Given the description of an element on the screen output the (x, y) to click on. 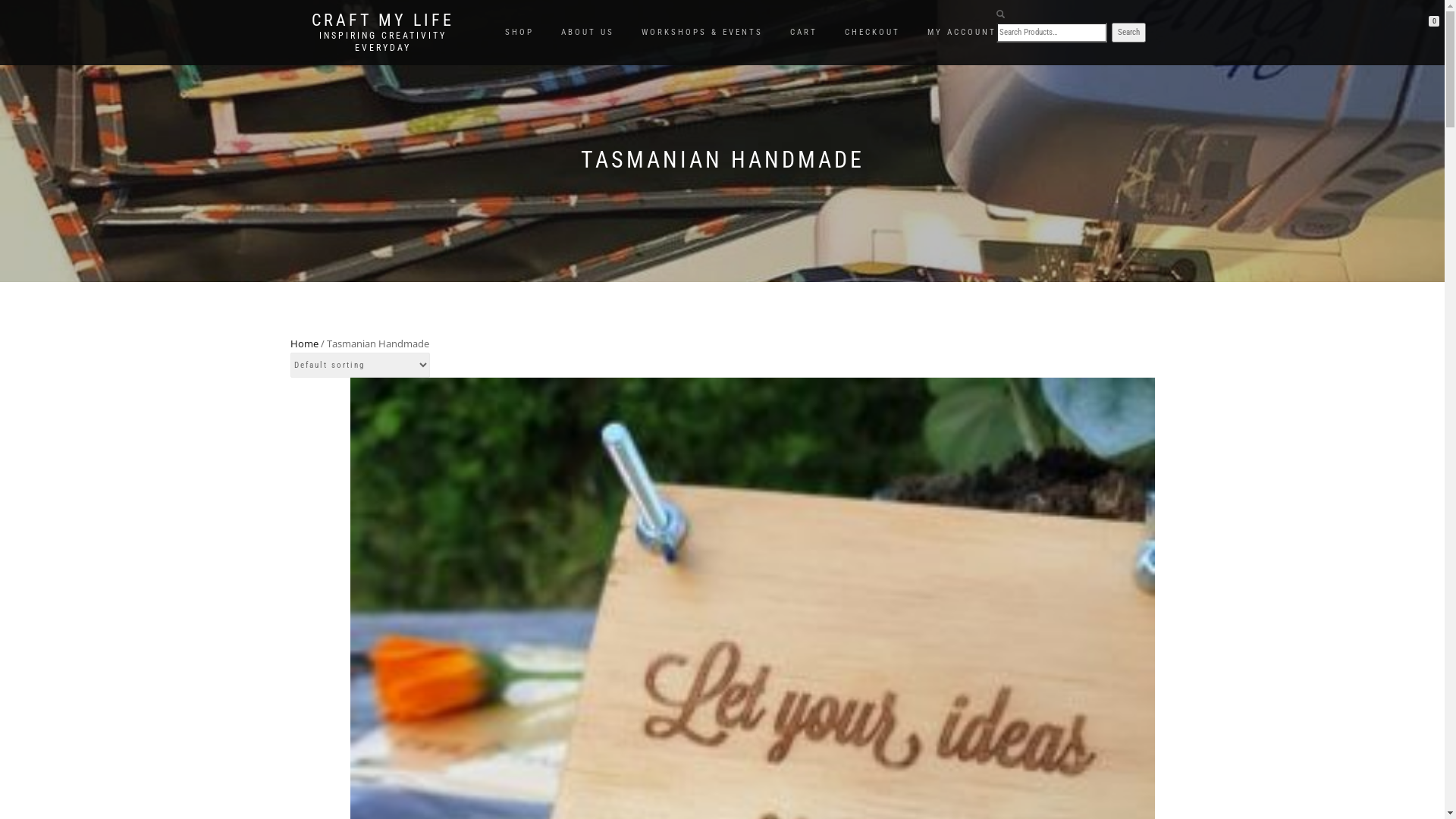
MY ACCOUNT Element type: text (961, 32)
SHOP Element type: text (519, 32)
ABOUT US Element type: text (587, 32)
INSPIRING CREATIVITY EVERYDAY Element type: text (382, 41)
CART Element type: text (803, 32)
Home Element type: text (303, 343)
CHECKOUT Element type: text (872, 32)
WORKSHOPS & EVENTS Element type: text (702, 32)
Search Element type: text (1128, 32)
CRAFT MY LIFE Element type: text (382, 20)
Search for: Element type: hover (1051, 32)
